Given the description of an element on the screen output the (x, y) to click on. 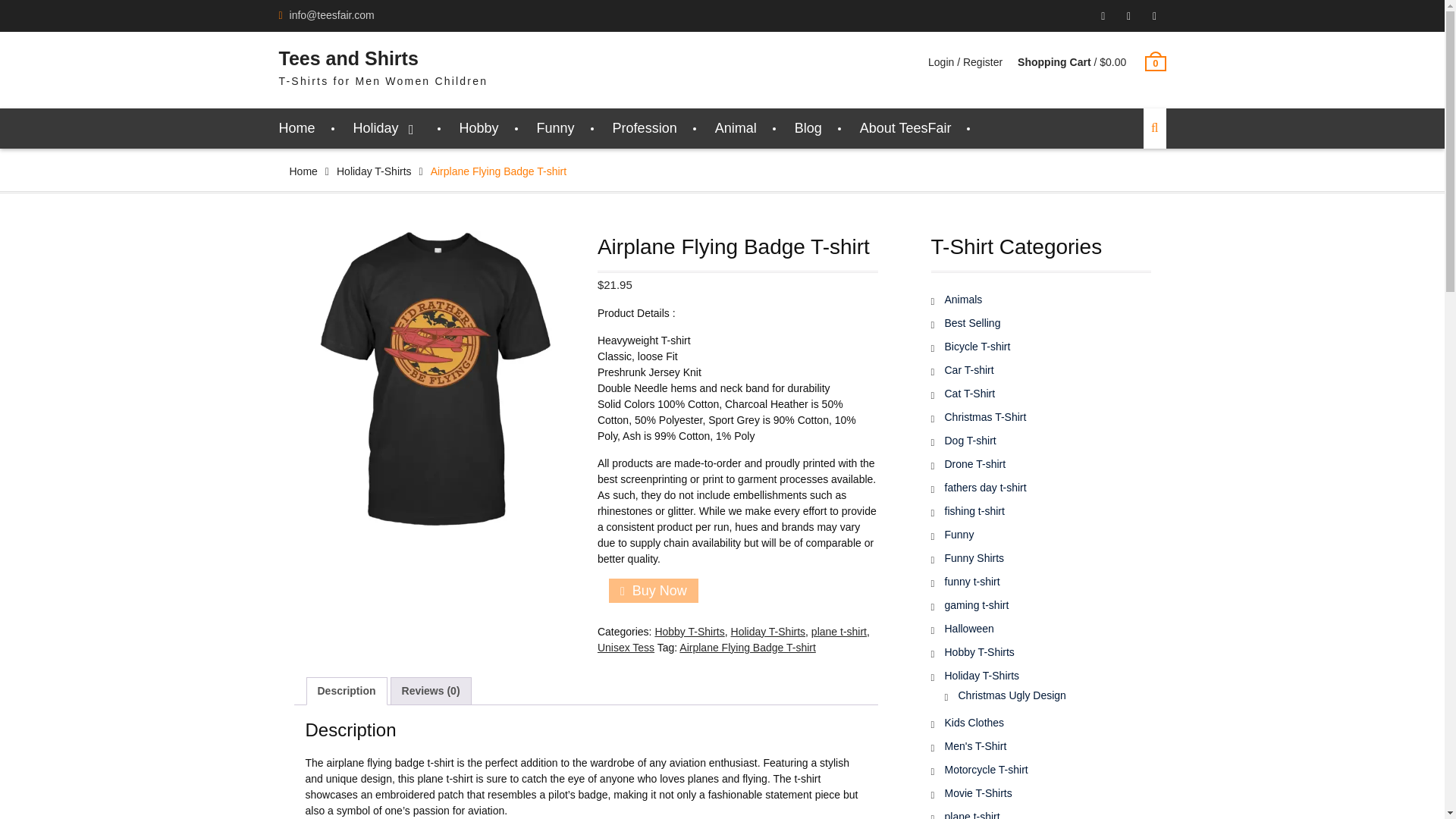
Animal (735, 128)
Home (297, 128)
Funny (556, 128)
Twitter (1154, 15)
Tees and Shirts (349, 57)
Buy Now (653, 590)
About TeesFair (906, 128)
Airplane Flying Badge T-shirt (434, 378)
plane t-shirt (838, 631)
Hobby T-Shirts (688, 631)
